Given the description of an element on the screen output the (x, y) to click on. 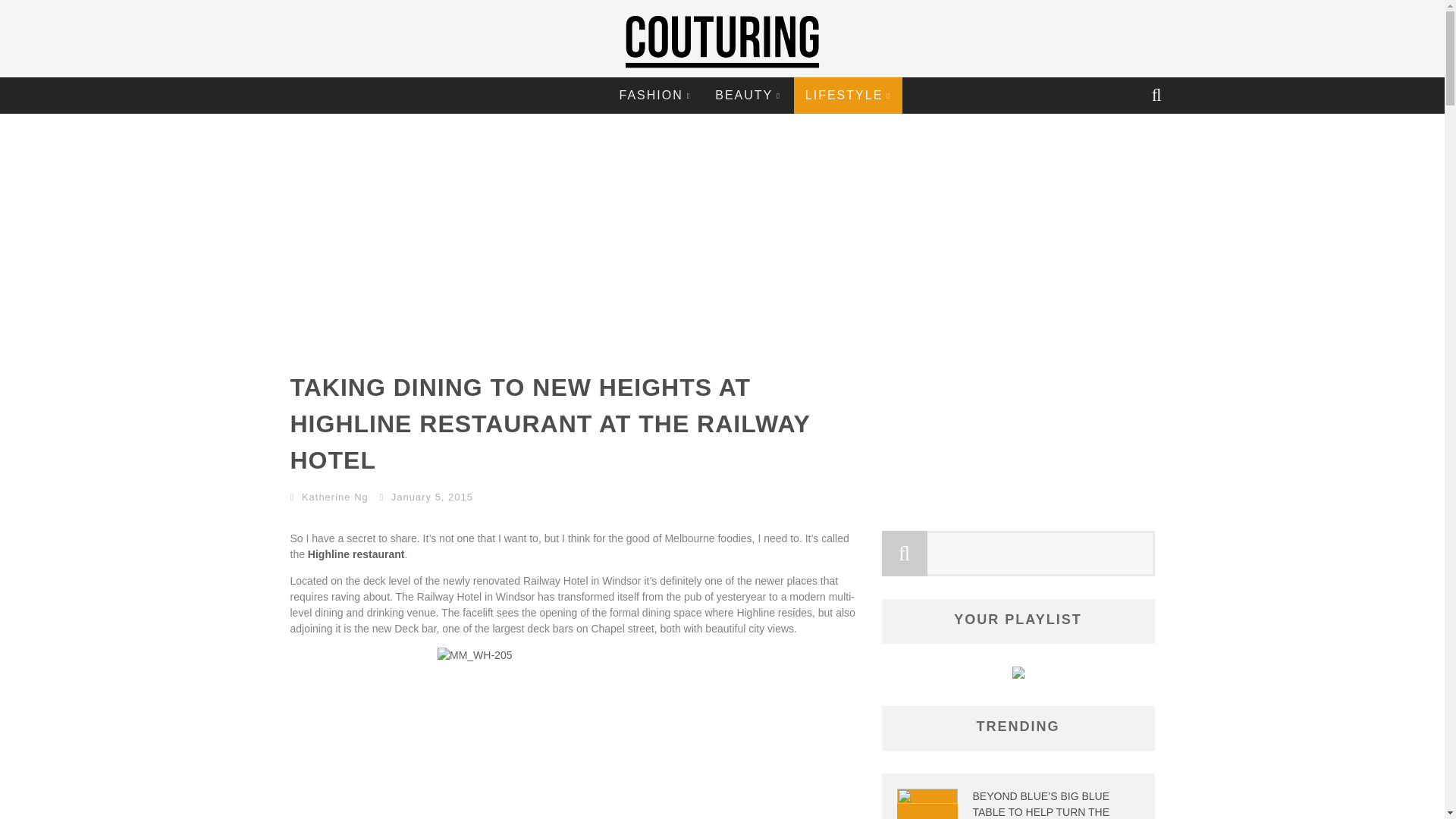
BEAUTY (747, 94)
FASHION (654, 94)
Search (1158, 94)
